Given the description of an element on the screen output the (x, y) to click on. 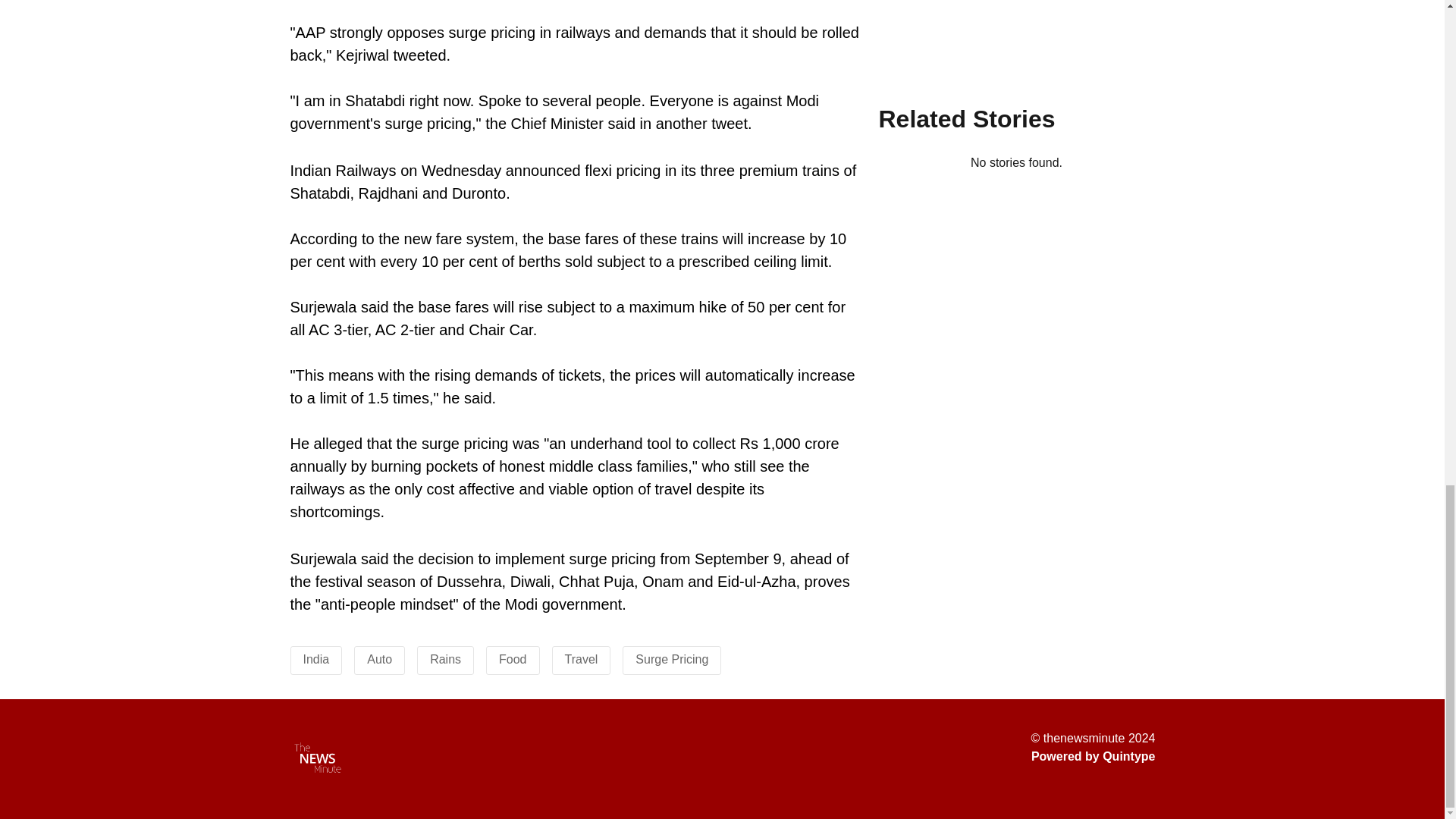
Surge Pricing (670, 658)
Auto (378, 658)
Travel (580, 658)
India (316, 658)
Rains (445, 658)
Food (512, 658)
Powered by Quintype (1093, 756)
